Given the description of an element on the screen output the (x, y) to click on. 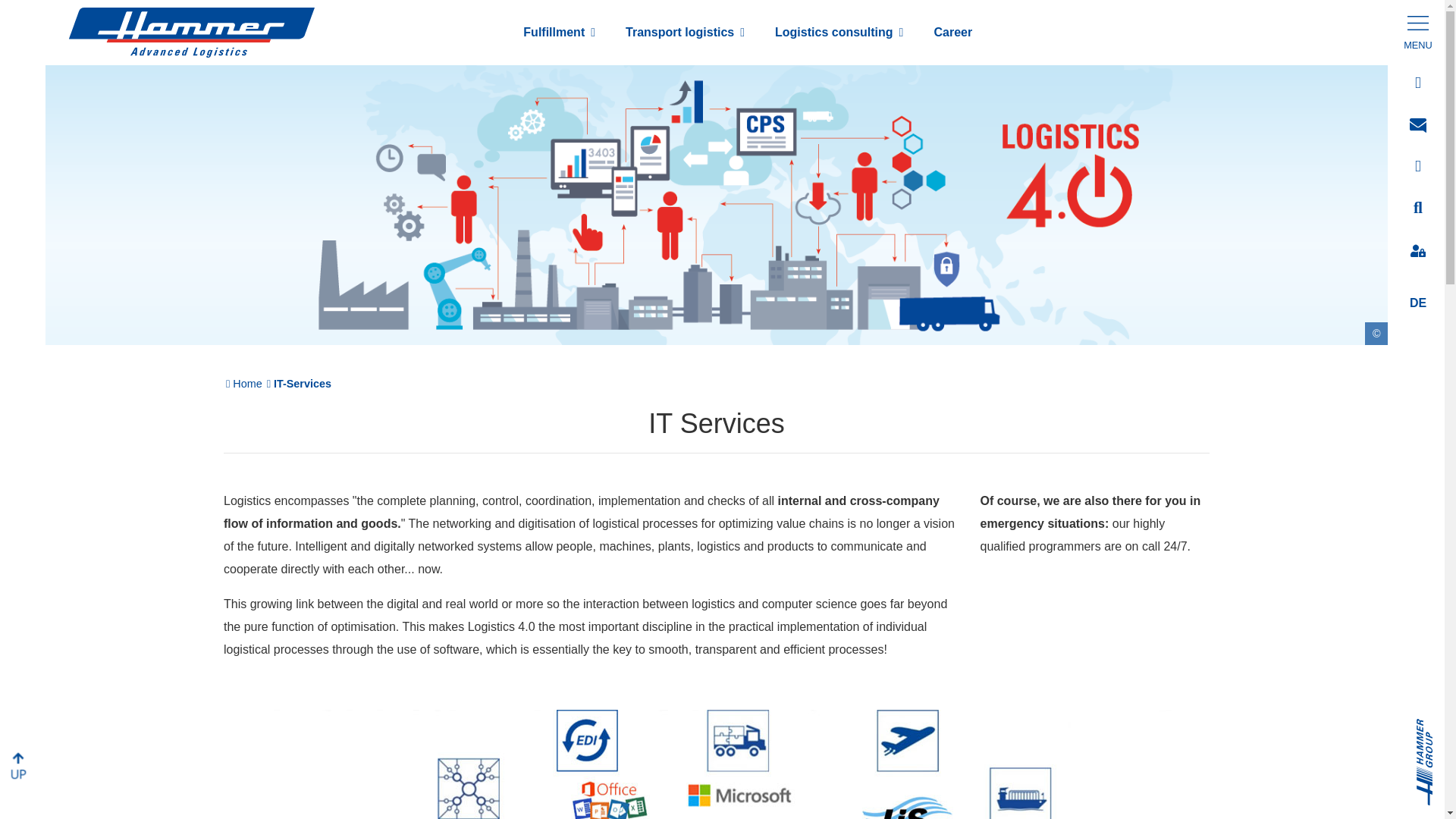
Fulfillment (559, 31)
Logistics IT-Services (717, 764)
IT-Services (303, 383)
Hammer Group (1435, 727)
DE (1417, 302)
Logistics consulting (839, 31)
Career (952, 31)
Transport logistics (685, 31)
Home (247, 383)
DE (1417, 303)
